Given the description of an element on the screen output the (x, y) to click on. 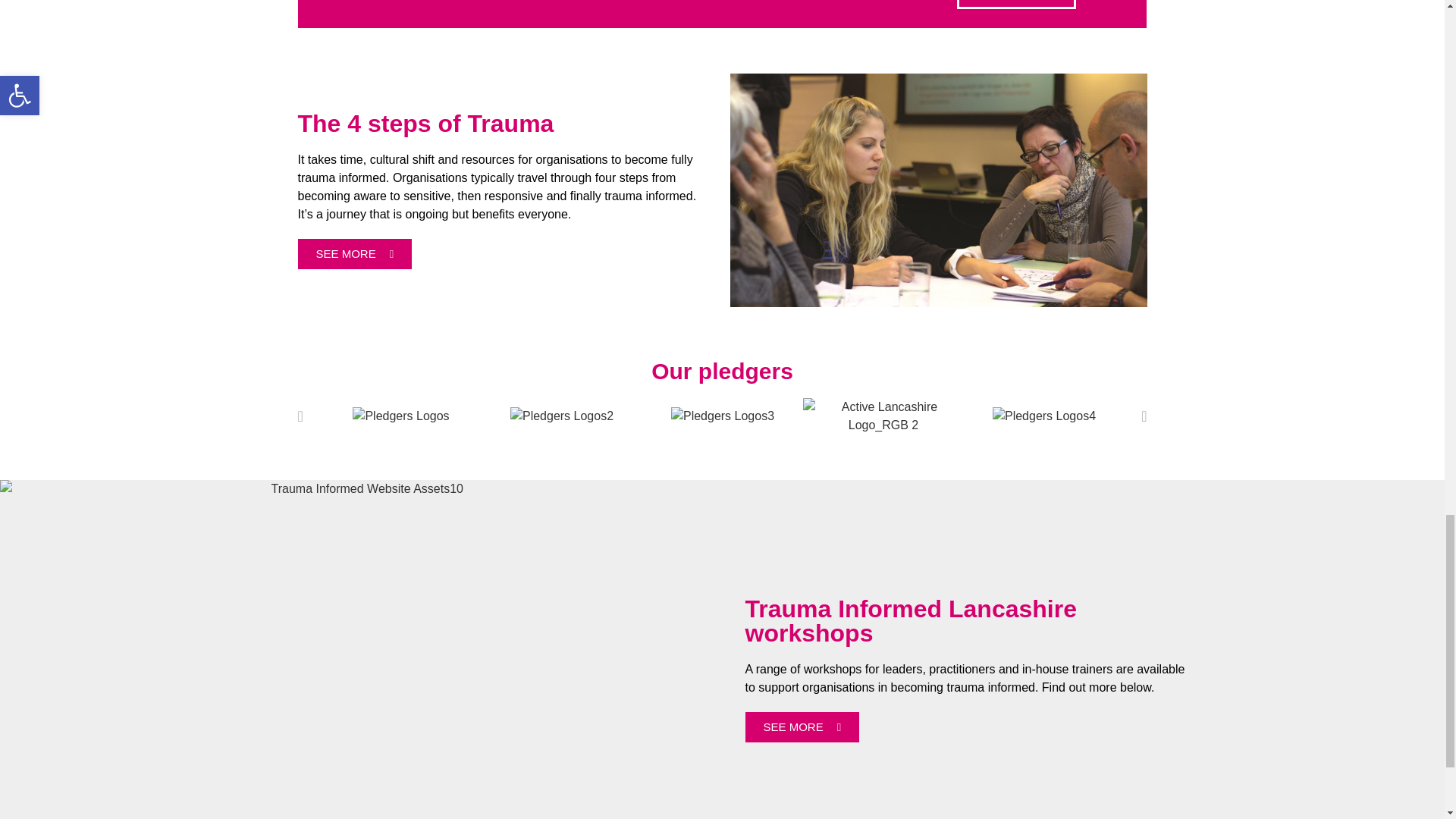
SEE MORE (1015, 4)
SEE MORE (354, 254)
SEE MORE (801, 726)
